Given the description of an element on the screen output the (x, y) to click on. 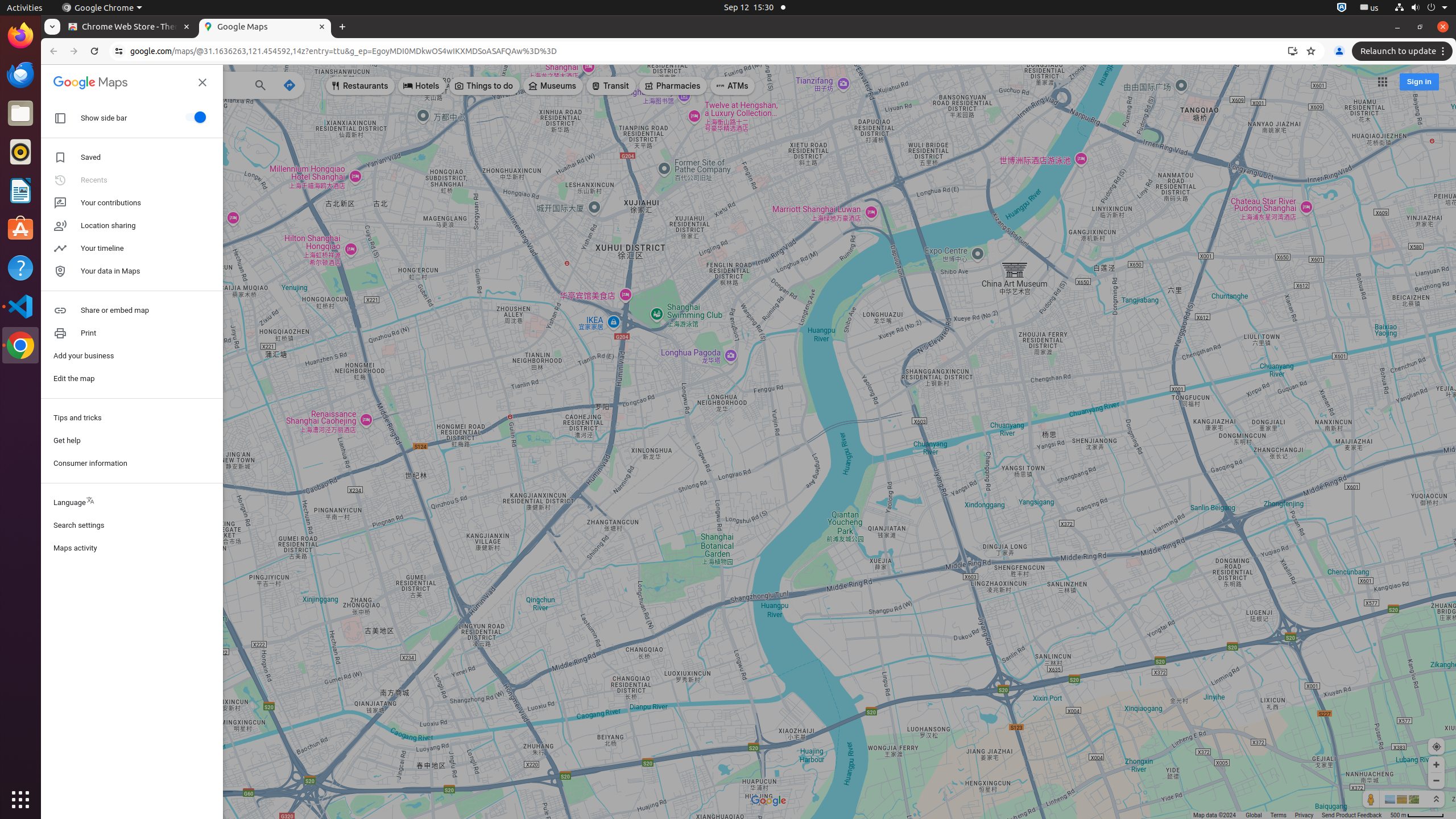
Privacy Element type: push-button (1303, 815)
Tips and tricks Element type: menu-item (131, 417)
Share or embed map Element type: menu-item (131, 310)
Consumer information Element type: menu-item (131, 463)
Saved Element type: menu-item (131, 157)
